Given the description of an element on the screen output the (x, y) to click on. 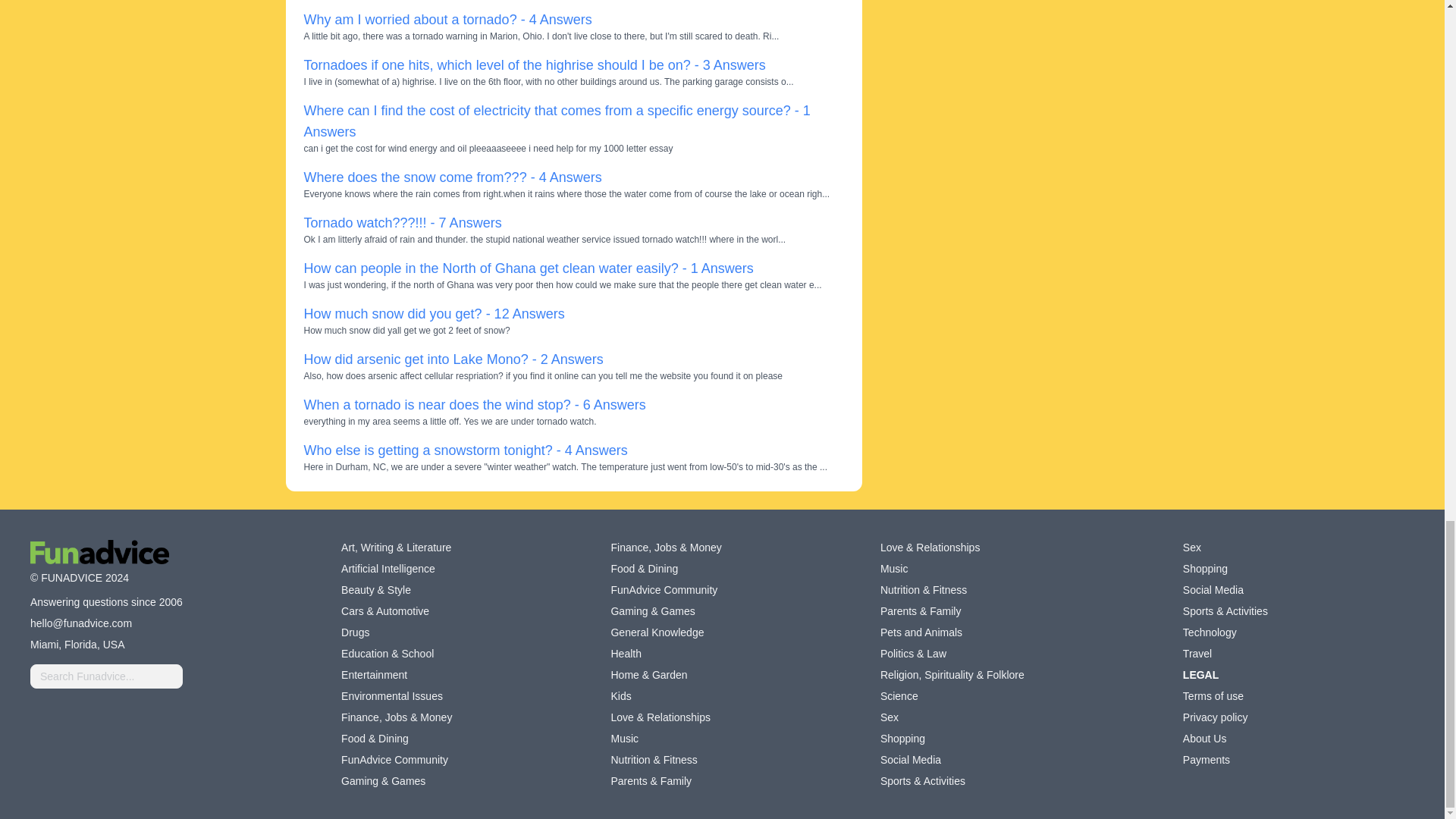
How did arsenic get into Lake Mono? - 2 Answers (452, 359)
Why am I worried about a tornado? - 4 Answers (446, 19)
Entertainment (373, 674)
When a tornado is near does the wind stop? - 6 Answers (473, 404)
Tornado watch???!!! - 7 Answers (401, 222)
Environmental Issues (391, 695)
Who else is getting a snowstorm tonight? - 4 Answers (464, 450)
Drugs (354, 631)
Where does the snow come from??? - 4 Answers (451, 177)
Artificial Intelligence (387, 568)
How much snow did you get? - 12 Answers (433, 313)
